Given the description of an element on the screen output the (x, y) to click on. 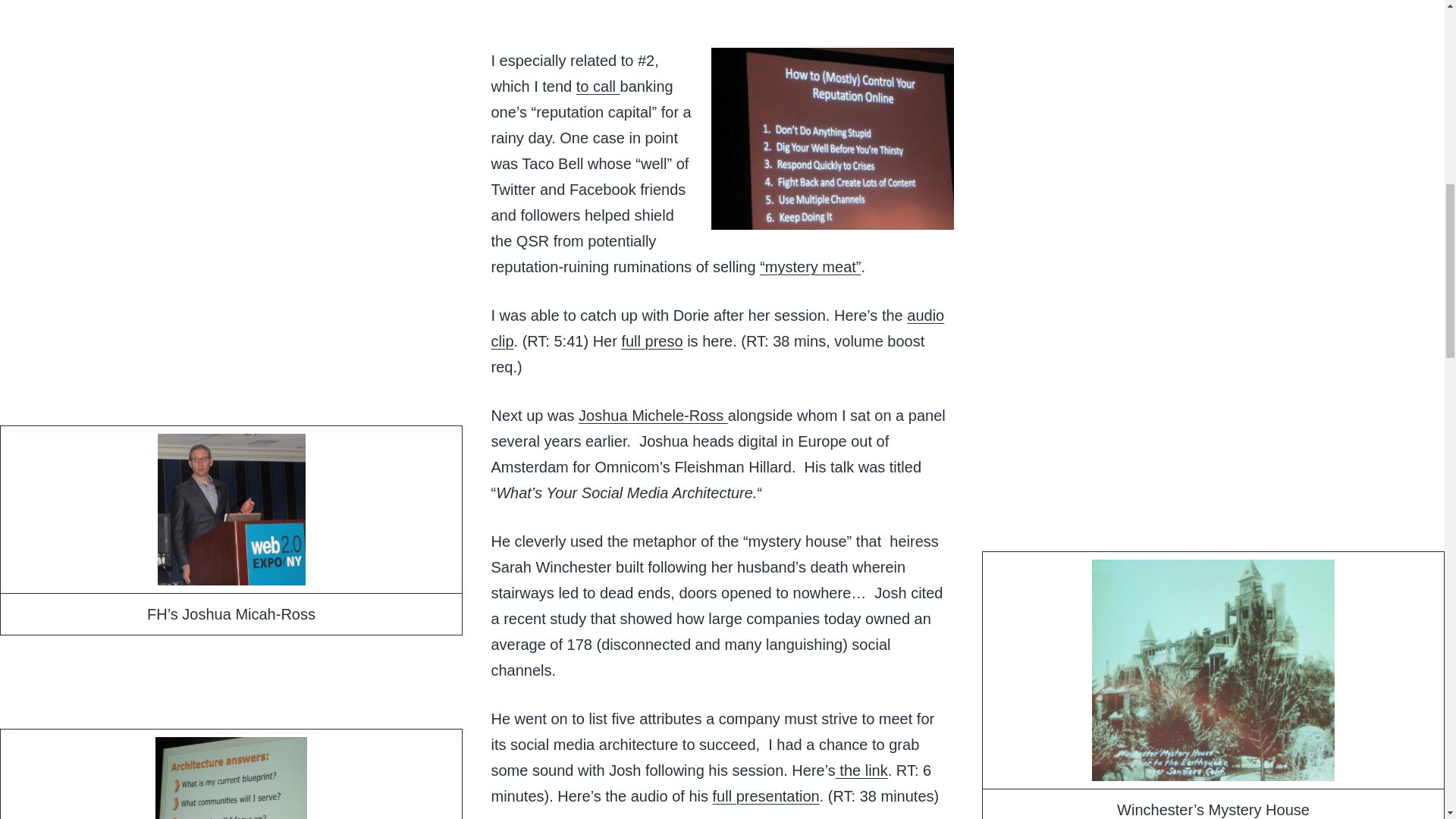
to call (598, 86)
Joshua Michele-Ross (653, 415)
audio clip (718, 328)
the link (861, 770)
full presentation (766, 795)
full preso (651, 340)
